Given the description of an element on the screen output the (x, y) to click on. 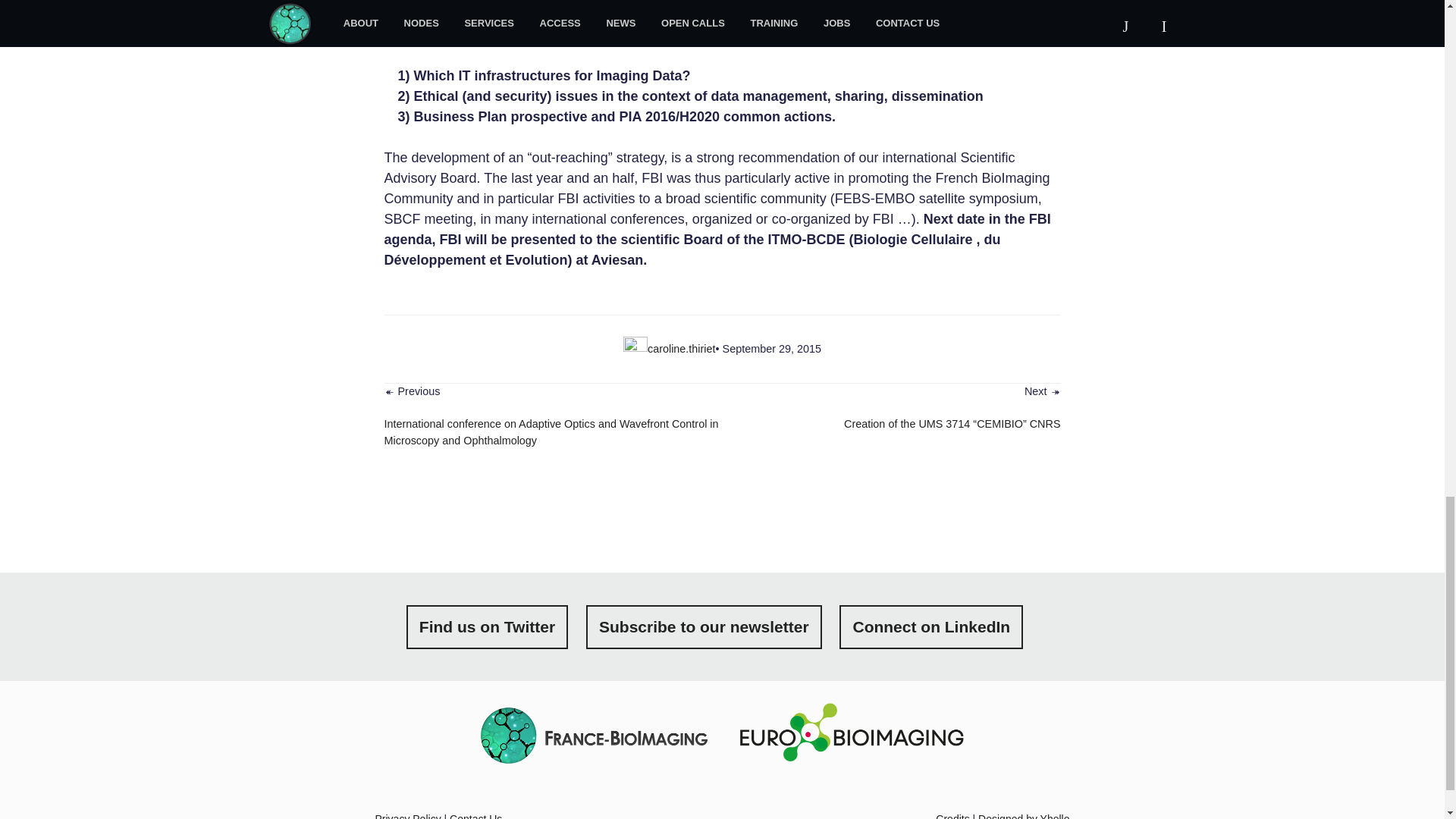
Posts by caroline.thiriet (681, 349)
Find us on Twitter (486, 627)
Connect on LinkedIn (931, 627)
caroline.thiriet (681, 349)
Subscribe to our newsletter (704, 627)
